Given the description of an element on the screen output the (x, y) to click on. 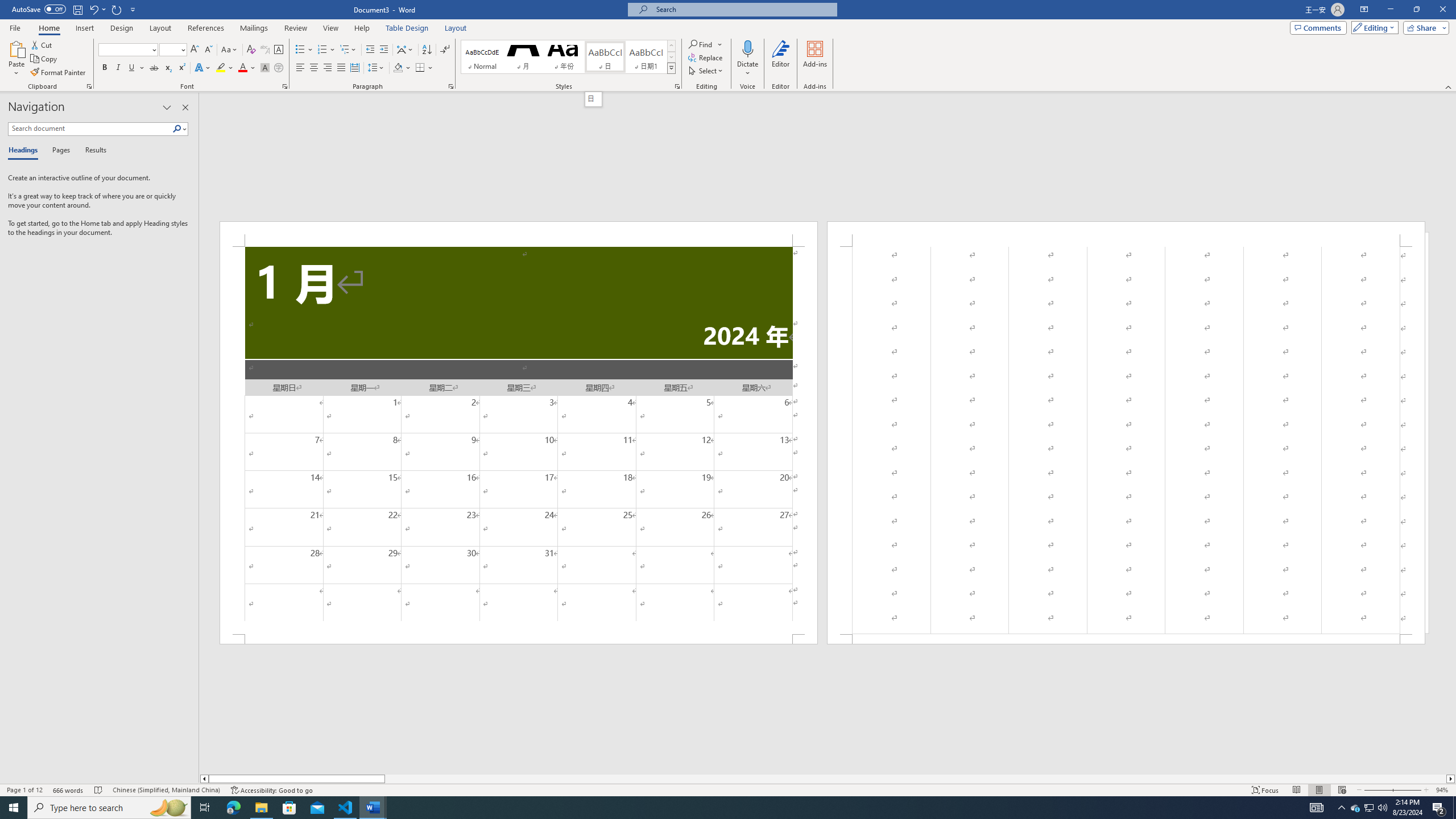
Font... (285, 85)
Text Effects and Typography (202, 67)
Spelling and Grammar Check No Errors (98, 790)
Save (77, 9)
Task Pane Options (167, 107)
Open (182, 49)
Styles (670, 67)
Microsoft search (742, 9)
Phonetic Guide... (264, 49)
Shading RGB(0, 0, 0) (397, 67)
Header -Section 1- (1126, 233)
Bold (104, 67)
Distributed (354, 67)
